Given the description of an element on the screen output the (x, y) to click on. 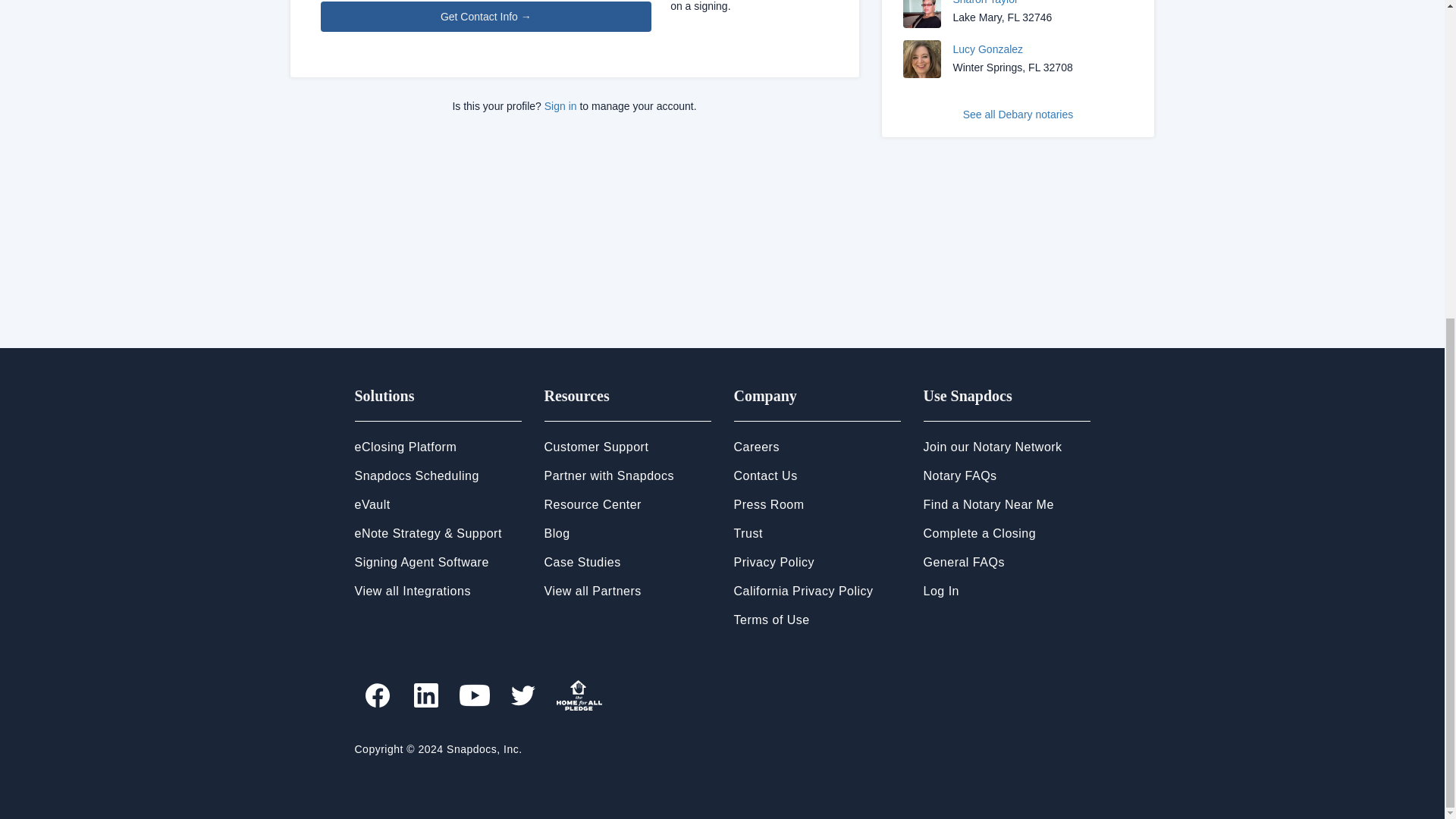
Lucy Gonzalez (987, 49)
Signing Agent Software (422, 562)
Customer Support (596, 446)
eVault (372, 504)
Partner with Snapdocs (609, 475)
View all Integrations (412, 590)
Resource Center (593, 504)
Sharon Taylor (984, 2)
Snapdocs Scheduling (417, 475)
Blog (557, 533)
eClosing Platform (406, 446)
See all Debary notaries (1018, 114)
Sign in (560, 105)
